Given the description of an element on the screen output the (x, y) to click on. 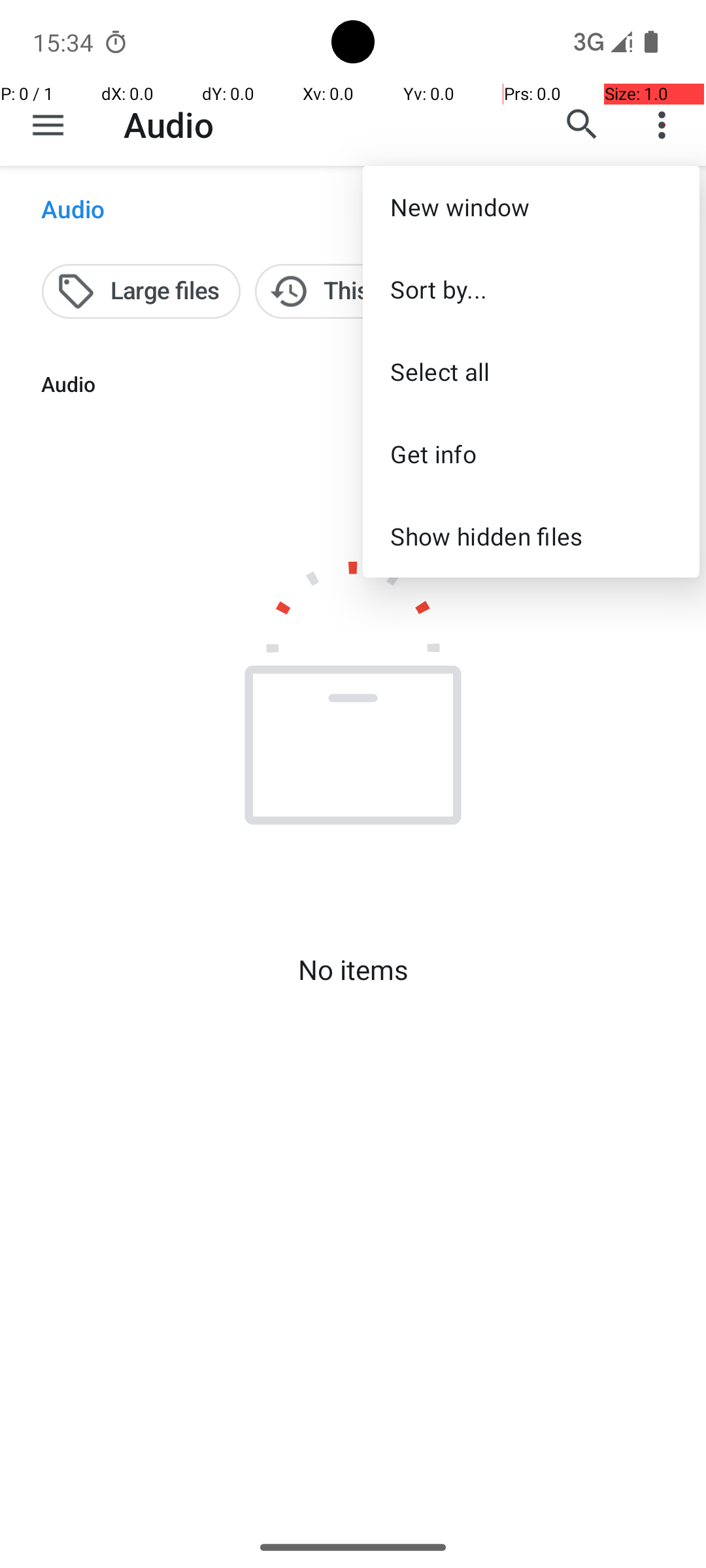
Get info Element type: android.widget.TextView (531, 453)
